Given the description of an element on the screen output the (x, y) to click on. 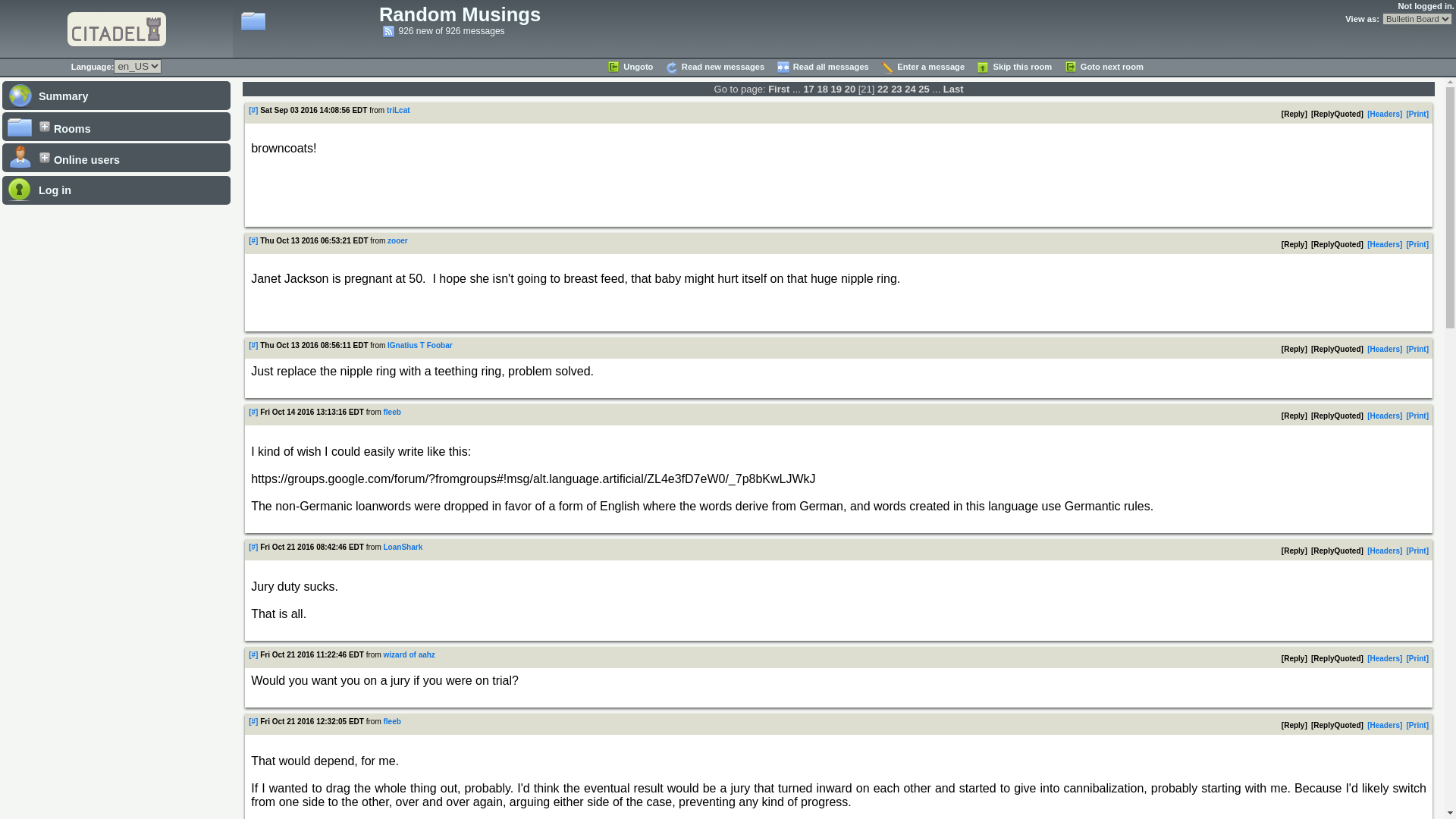
triLcat (398, 110)
Skip this room (1013, 67)
24 (909, 89)
Your summary page (116, 94)
Log in (116, 189)
Goto next room (1102, 67)
20 (850, 89)
Enter a message (922, 67)
22 (882, 89)
